Given the description of an element on the screen output the (x, y) to click on. 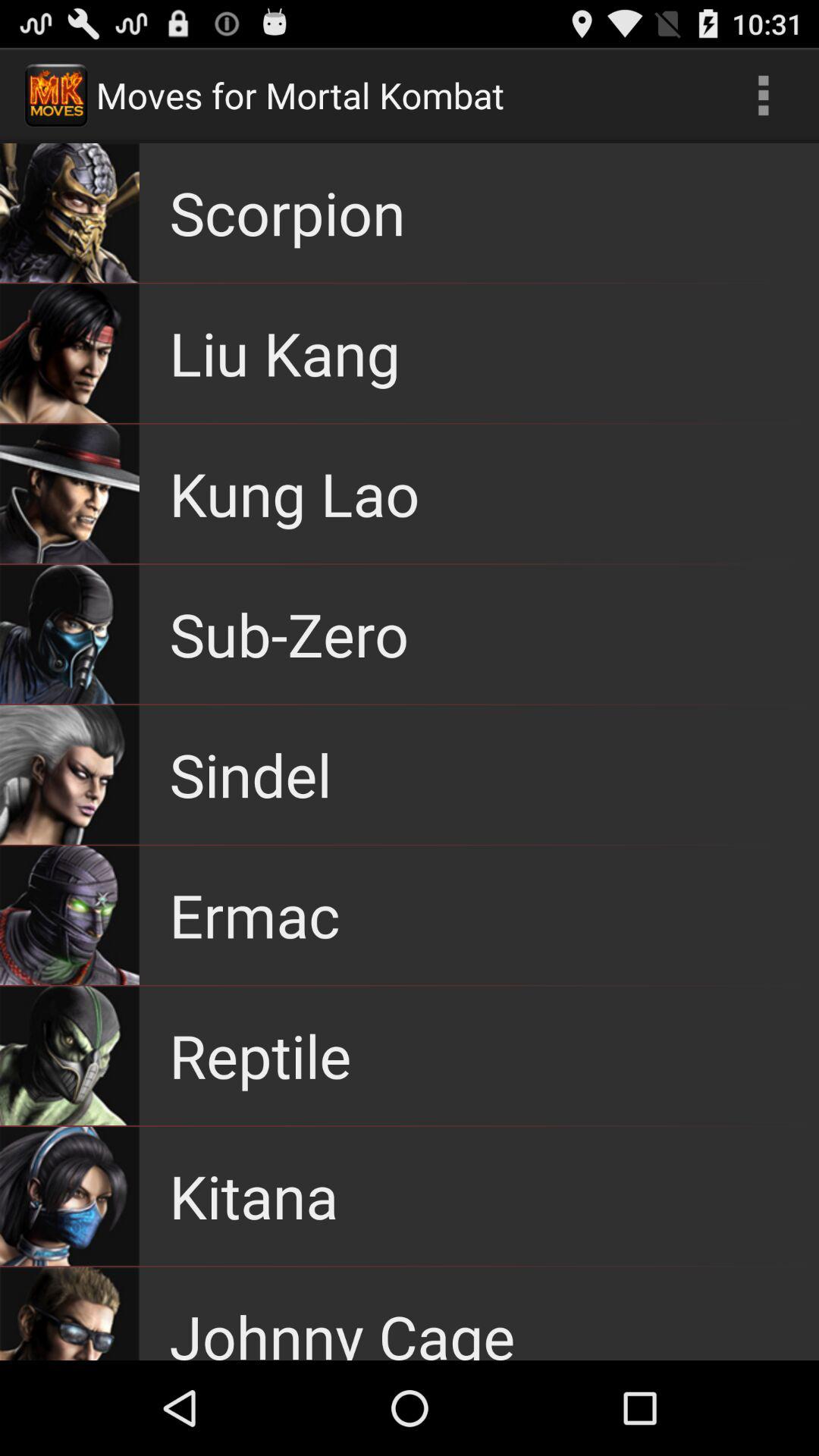
turn off app above johnny cage item (253, 1195)
